Given the description of an element on the screen output the (x, y) to click on. 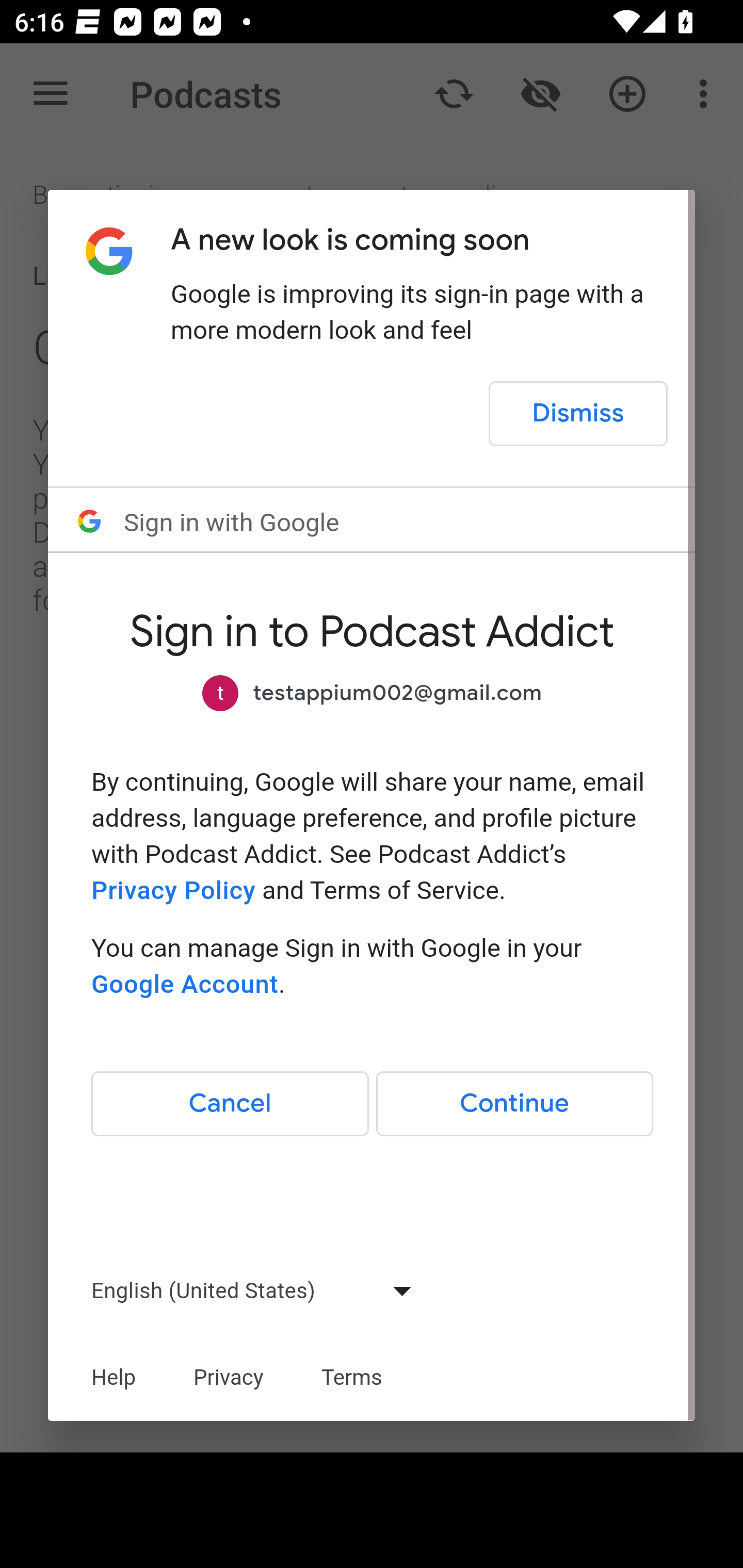
Dismiss (578, 413)
Privacy Policy (172, 890)
Google Account (183, 984)
Cancel (230, 1103)
Continue (514, 1103)
Help (113, 1377)
Privacy (228, 1377)
Terms (352, 1377)
